Given the description of an element on the screen output the (x, y) to click on. 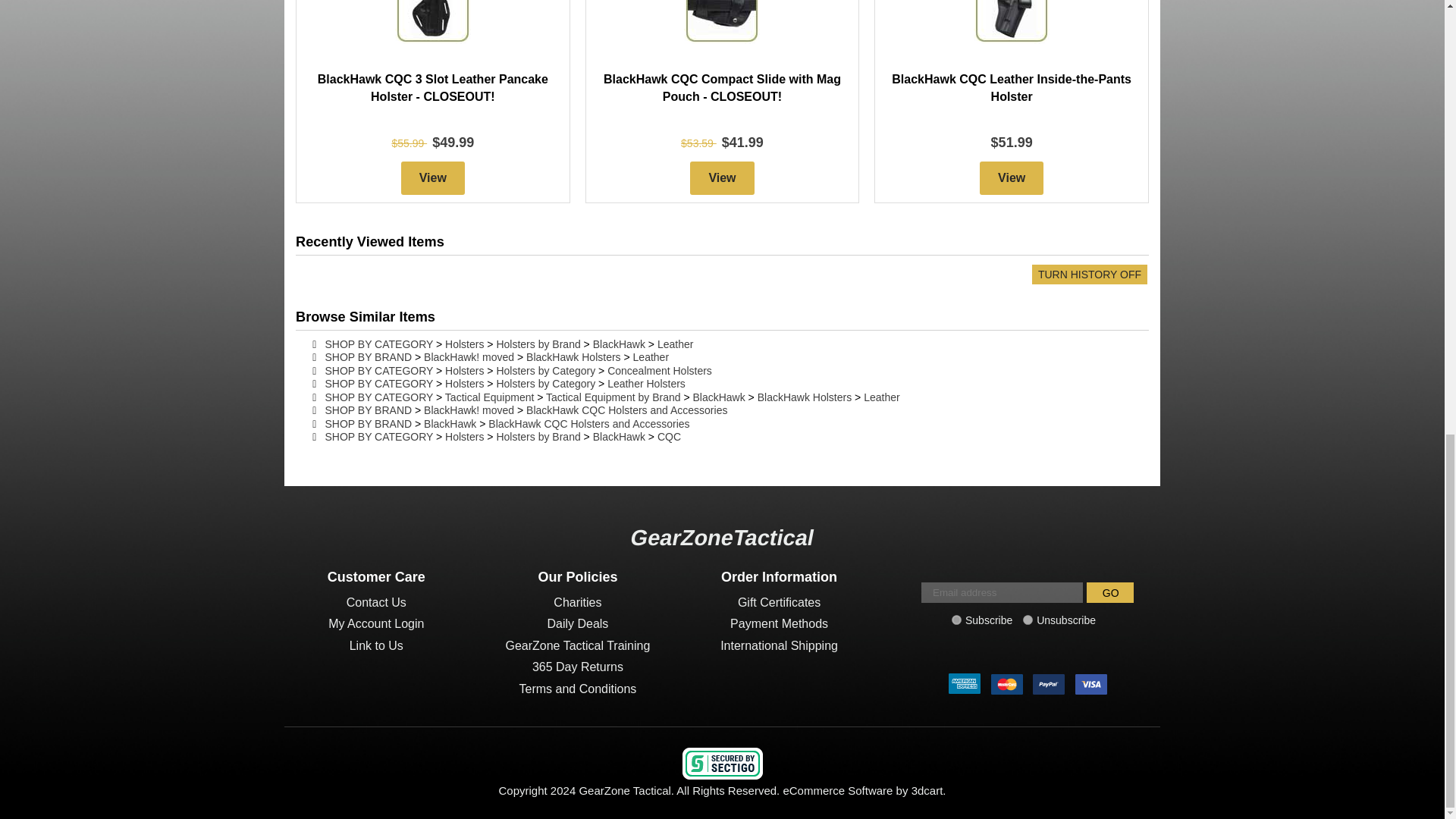
BlackHawk CQC 3 Slot Leather Pancake Holster - CLOSEOUT! (432, 87)
1 (956, 619)
0 (1027, 619)
View (1011, 177)
View (432, 177)
Turn History Off (1089, 274)
View (722, 177)
BlackHawk CQC Compact Slide with Mag Pouch - CLOSEOUT! (722, 87)
